Given the description of an element on the screen output the (x, y) to click on. 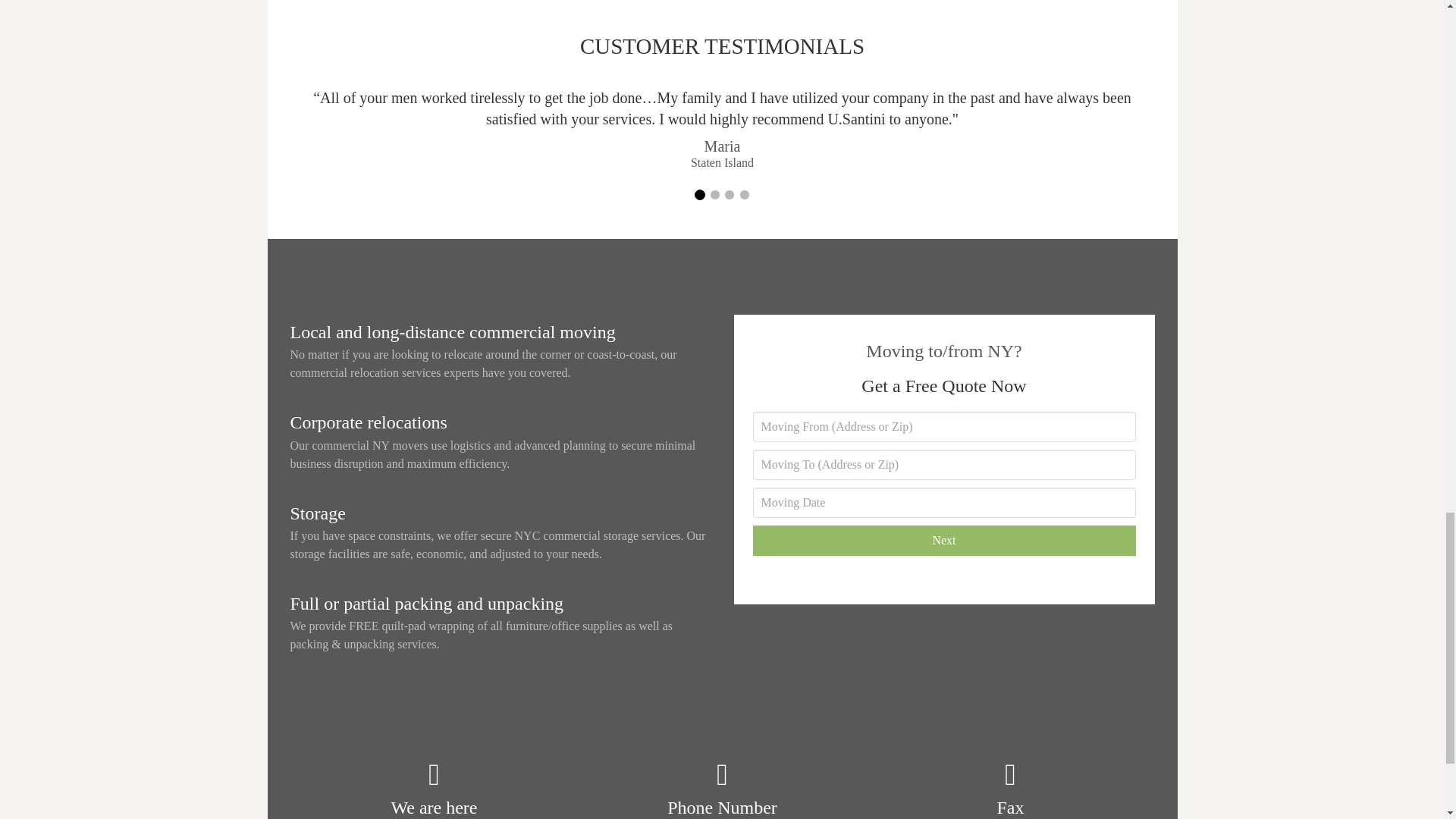
Next (943, 540)
Next (943, 540)
